Given the description of an element on the screen output the (x, y) to click on. 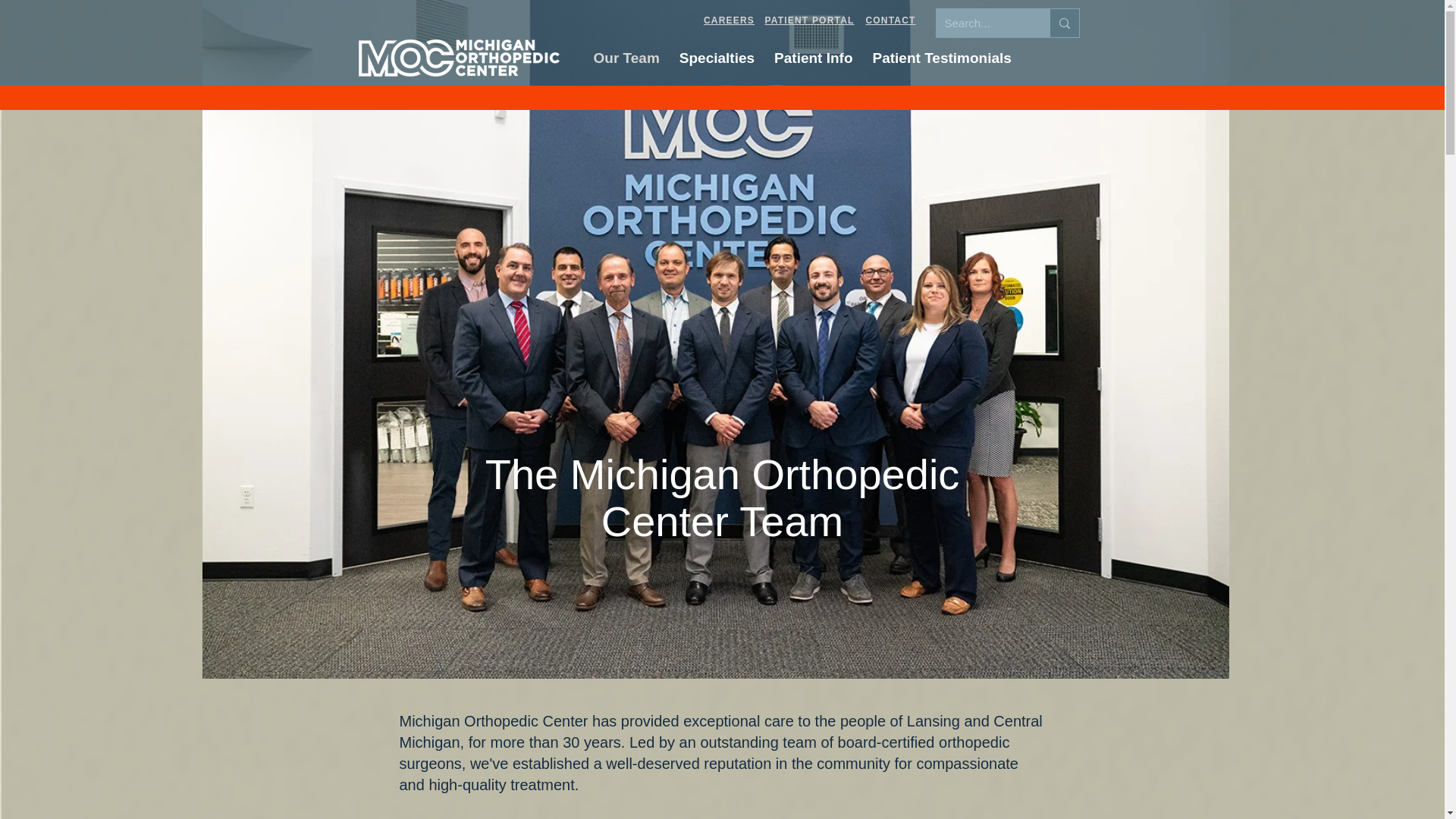
Patient Testimonials (941, 57)
CAREERS (729, 20)
CONTACT (890, 20)
PATIENT PORTAL (809, 20)
Specialties (716, 57)
Our Team (625, 57)
Patient Info (839, 57)
